Given the description of an element on the screen output the (x, y) to click on. 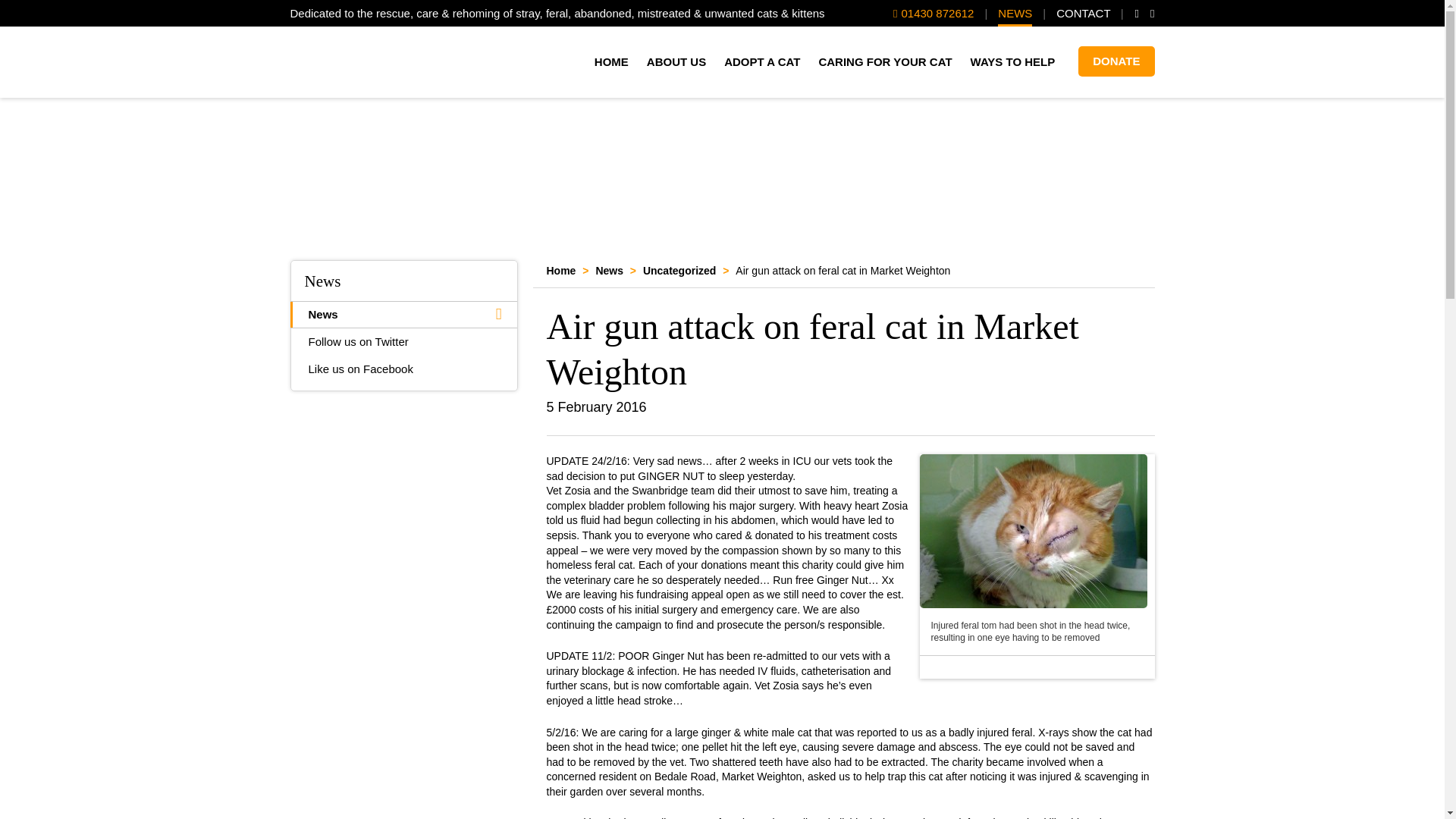
Caring for Cats (376, 61)
01430 872612 (933, 12)
NEWS (1014, 15)
ADOPT A CAT (761, 62)
CONTACT (1083, 15)
Caring for Cats (376, 61)
Go to the Uncategorized category archives. (679, 270)
CARING FOR YOUR CAT (885, 62)
Go to Caring for Cats. (560, 270)
Go to News. (609, 270)
WAYS TO HELP (1013, 62)
